Given the description of an element on the screen output the (x, y) to click on. 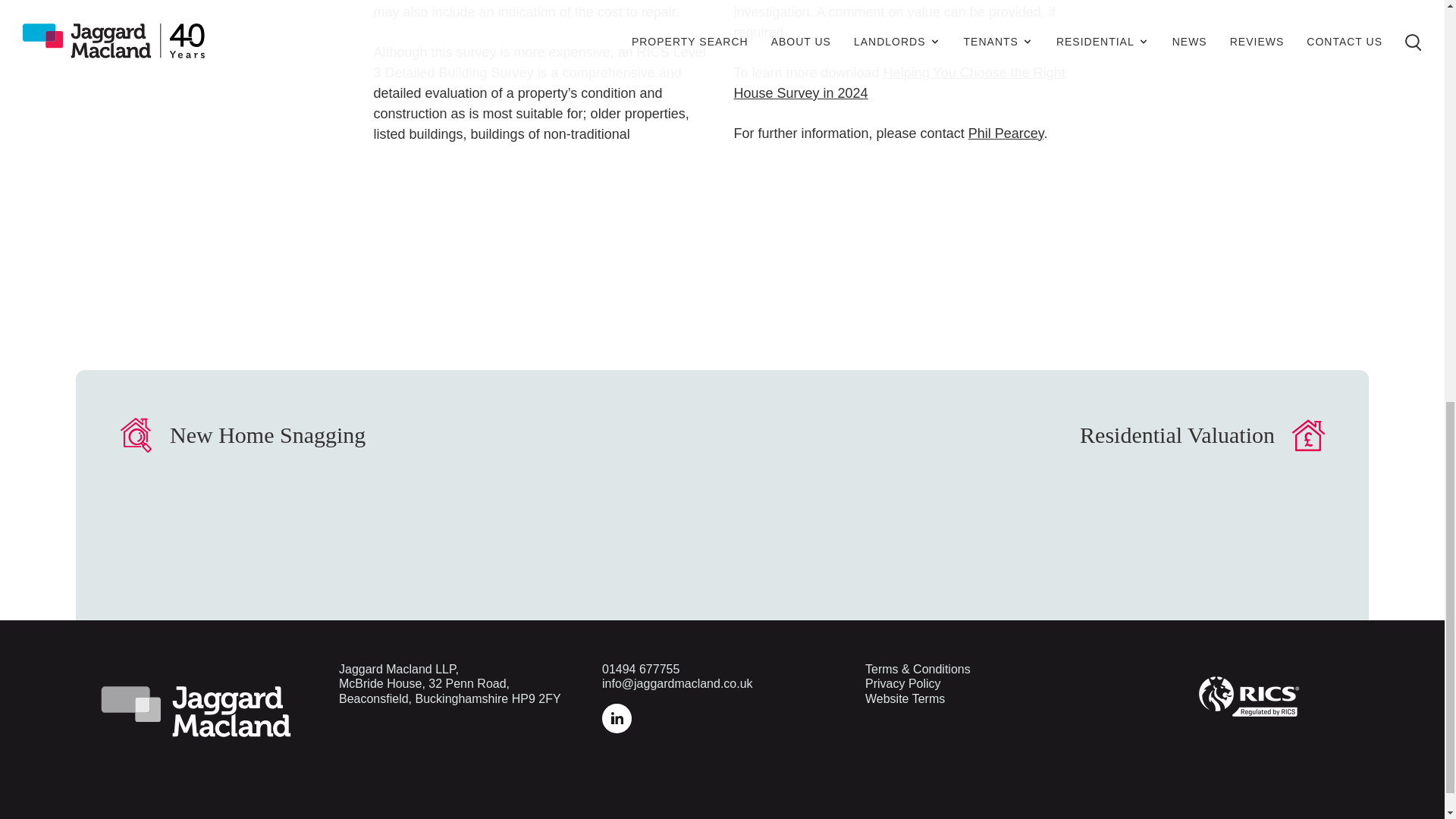
Phil Pearcey (1005, 133)
Helping You Choose the Right House Survey in 2024 (899, 82)
